Given the description of an element on the screen output the (x, y) to click on. 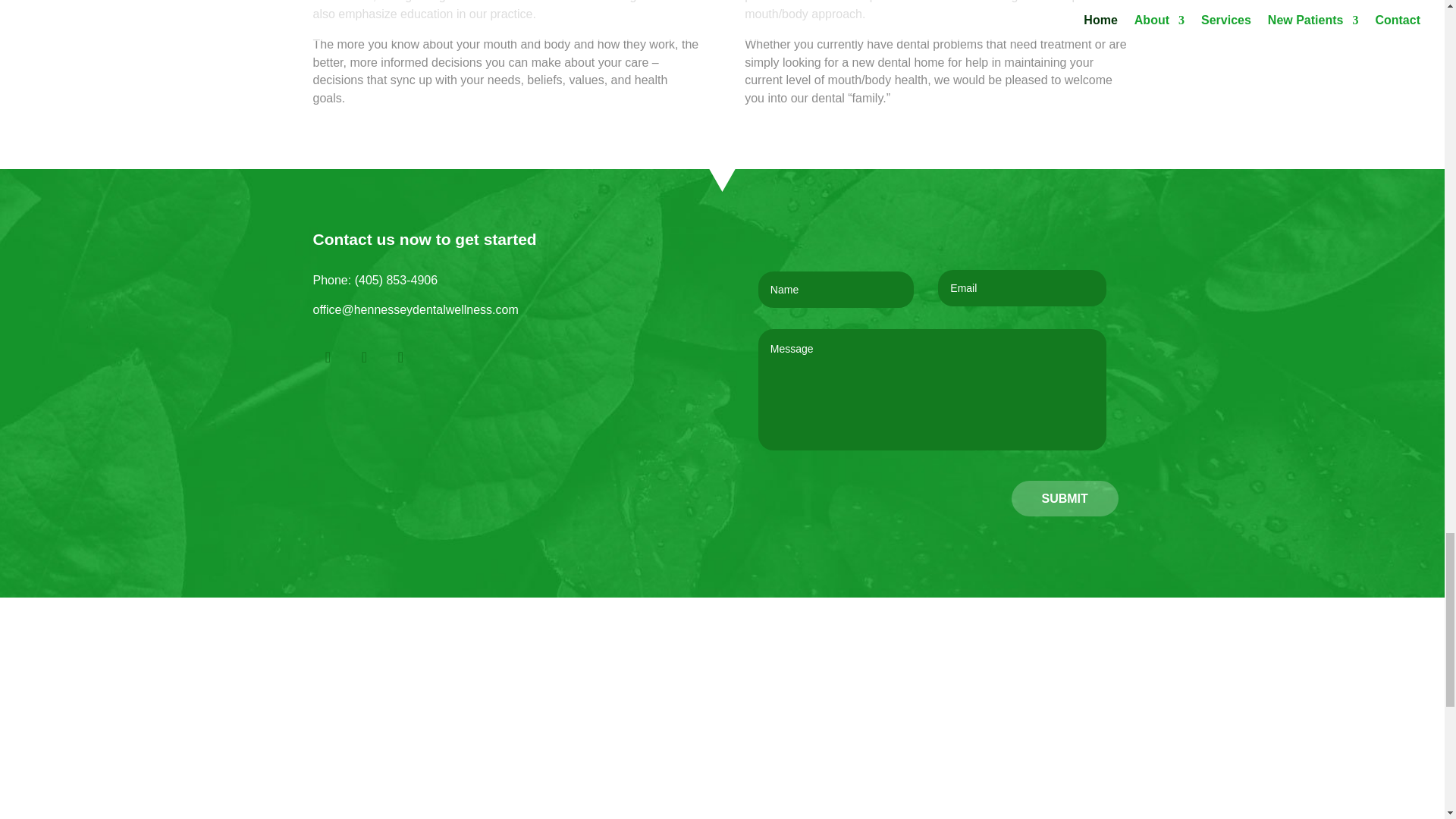
Follow on X (363, 357)
Instagram (399, 357)
Twitter (363, 357)
Follow on Instagram (399, 357)
Follow on Facebook (327, 357)
SUBMIT (1064, 498)
Facebook (327, 357)
